Given the description of an element on the screen output the (x, y) to click on. 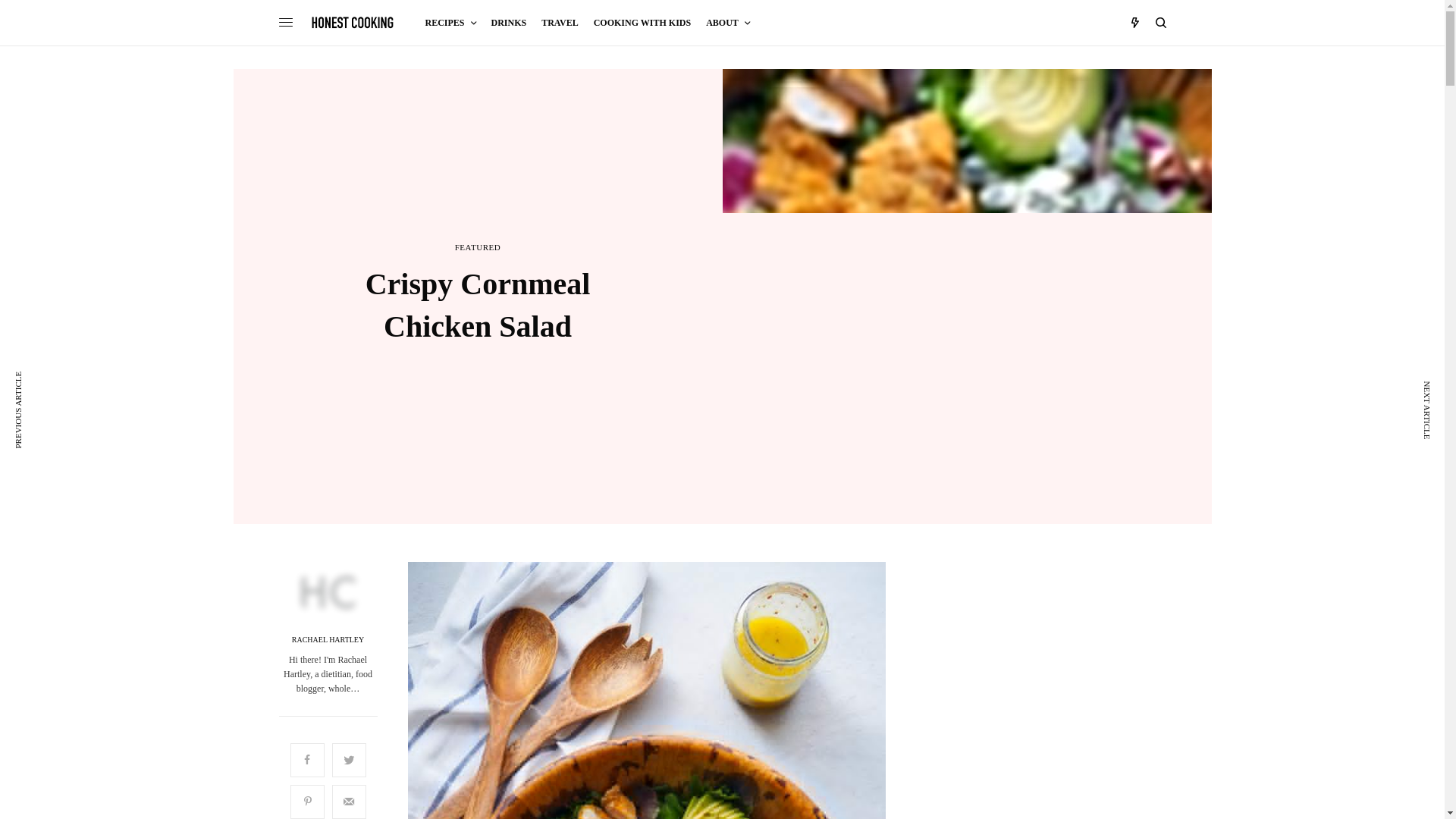
Honest Cooking (352, 22)
COOKING WITH KIDS (642, 22)
FEATURED (477, 247)
ABOUT (727, 22)
RACHAEL HARTLEY (328, 639)
RECIPES (450, 22)
